Given the description of an element on the screen output the (x, y) to click on. 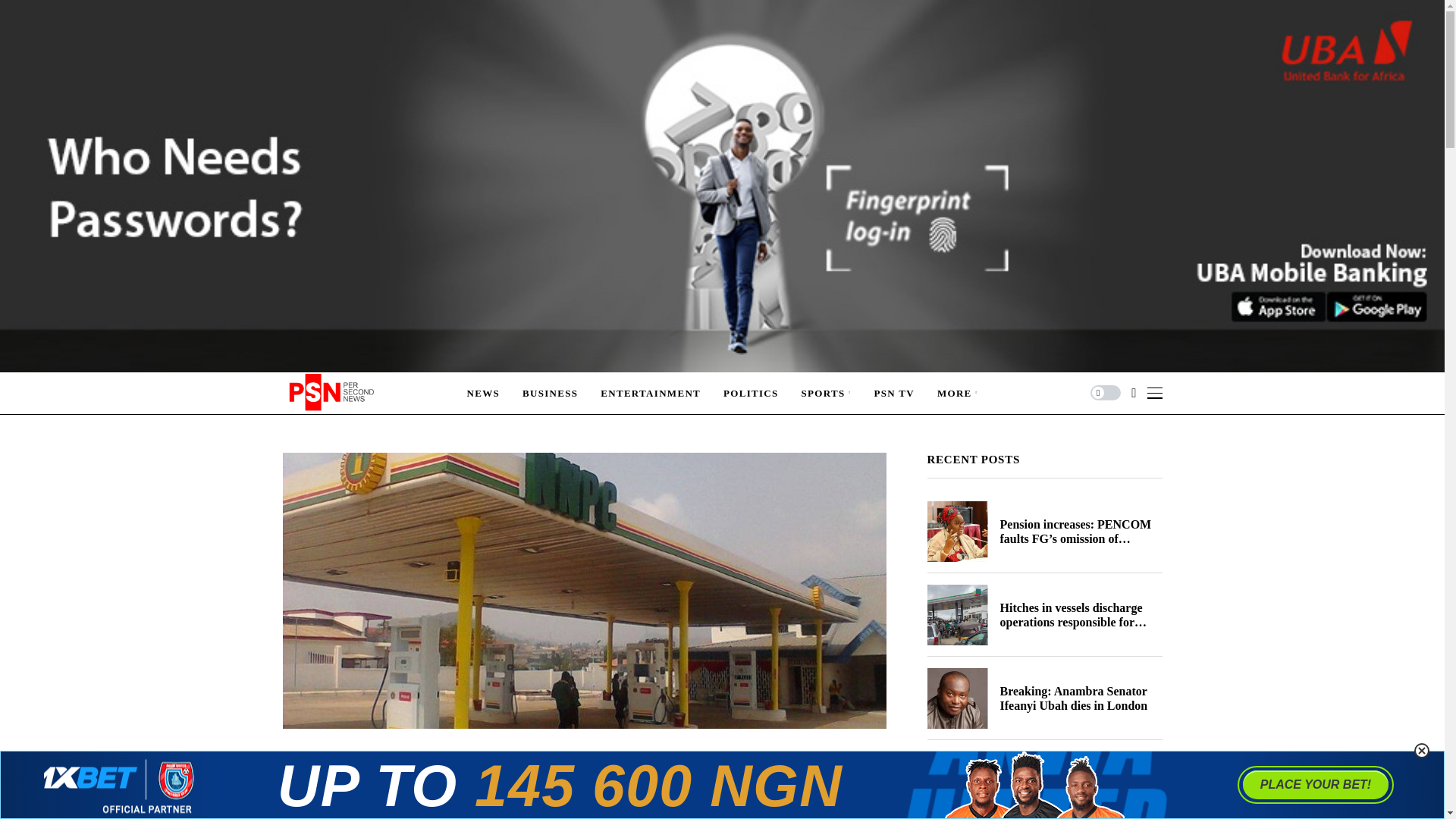
BUSINESS (550, 393)
SPORTS (826, 393)
ENTERTAINMENT (649, 393)
MORE (957, 393)
PSN TV (893, 393)
POLITICS (750, 393)
